Given the description of an element on the screen output the (x, y) to click on. 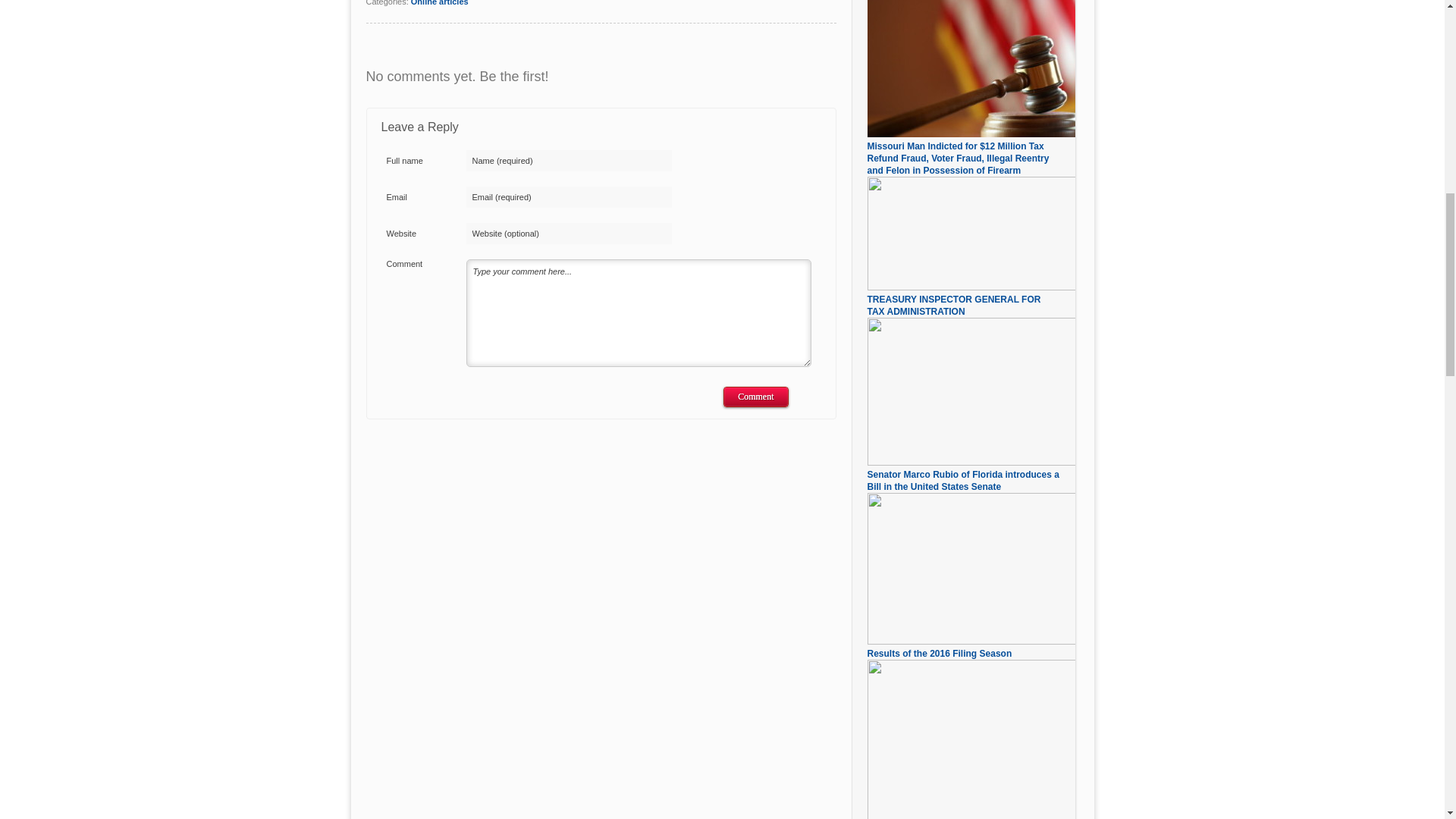
Comment (755, 396)
